Given the description of an element on the screen output the (x, y) to click on. 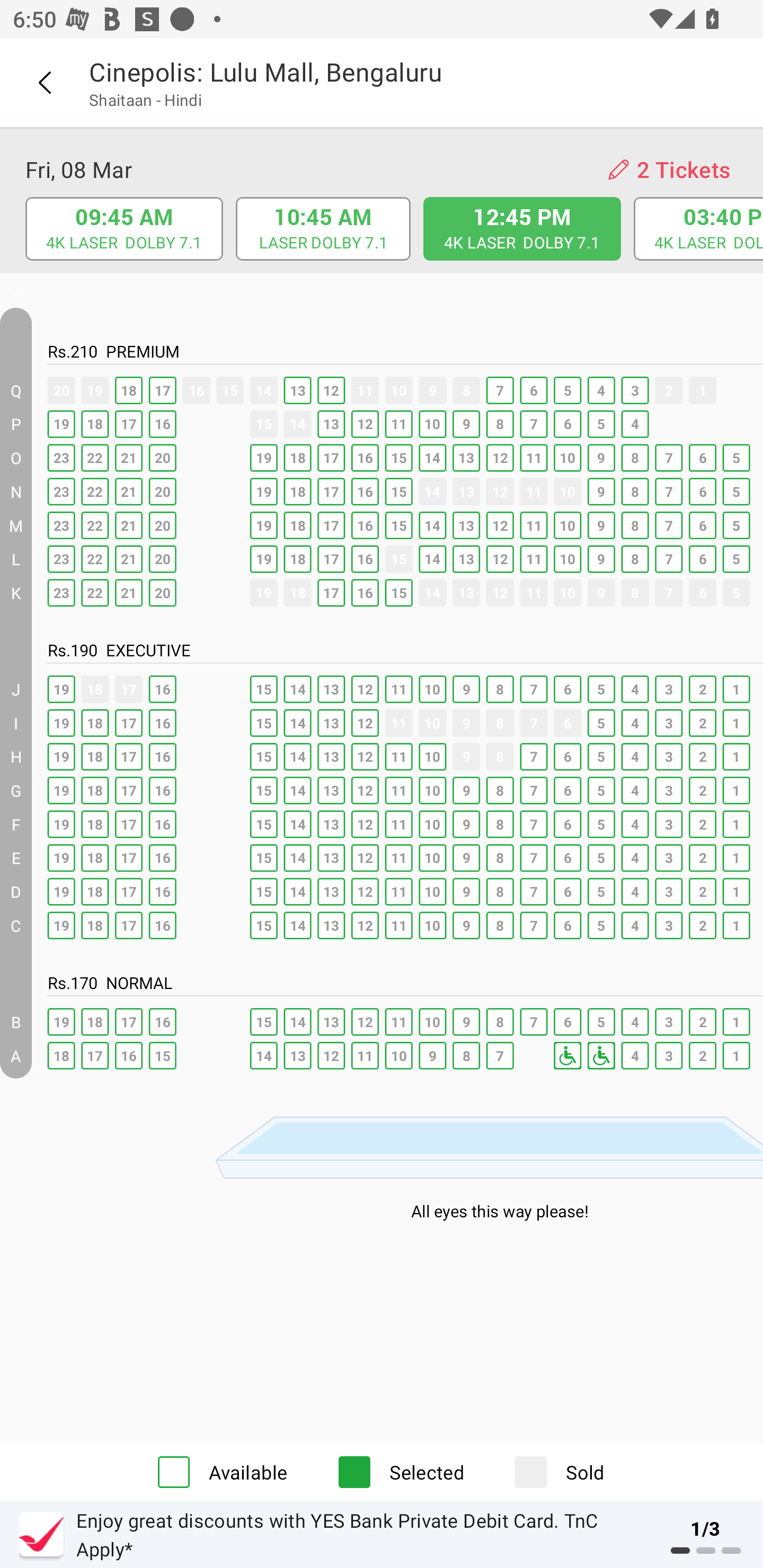
Back (44, 82)
 2 Tickets (668, 169)
09:45 AM 4K LASER  DOLBY 7.1 (123, 228)
10:45 AM LASER DOLBY 7.1 (322, 228)
12:45 PM 4K LASER  DOLBY 7.1 (521, 228)
03:40 PM 4K LASER  DOLBY 7.1 (699, 228)
